Given the description of an element on the screen output the (x, y) to click on. 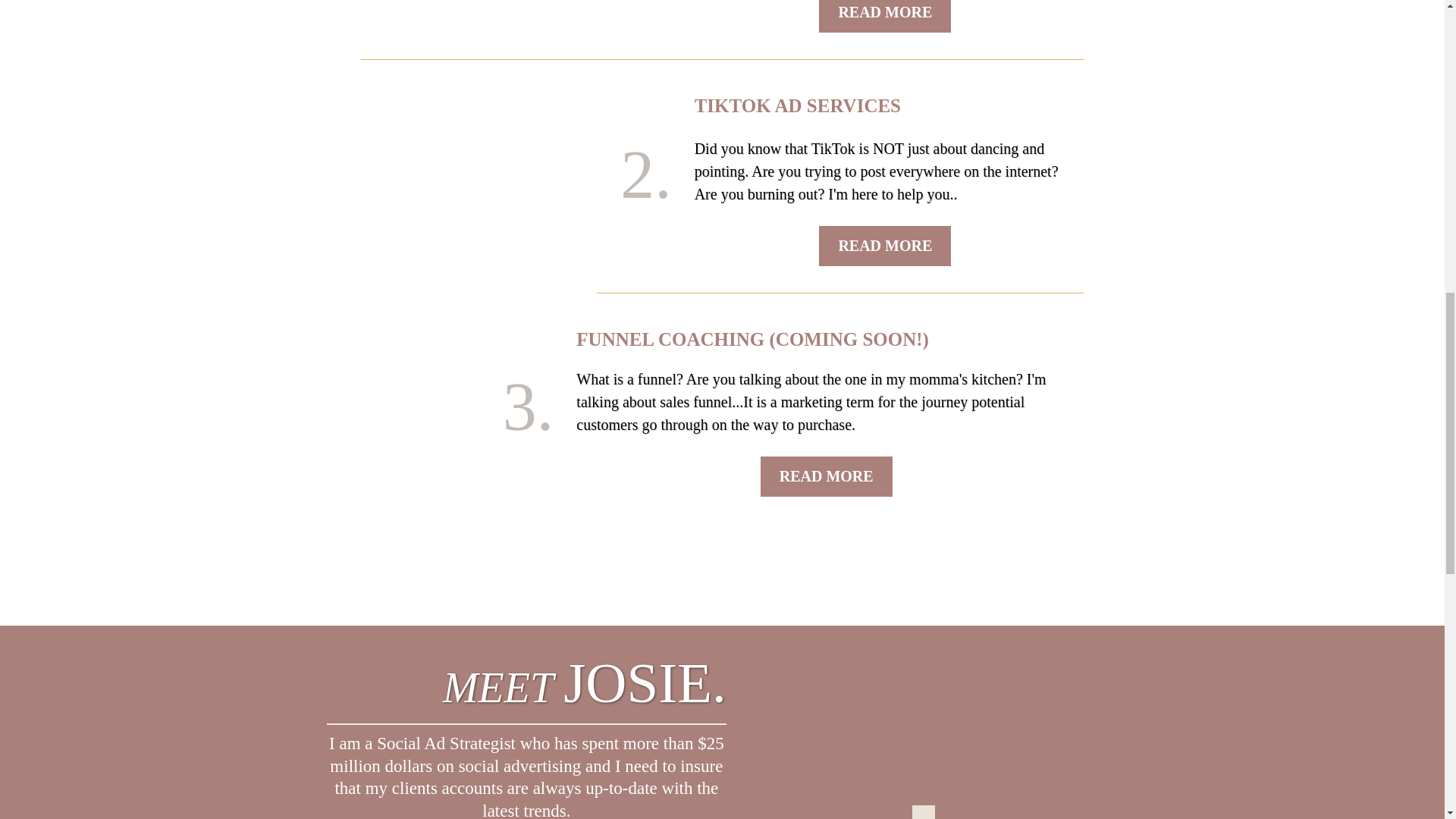
I WANT YOUR STRATEGY (954, 29)
READ MORE (884, 246)
READ MORE (826, 476)
READ MORE (884, 16)
